Given the description of an element on the screen output the (x, y) to click on. 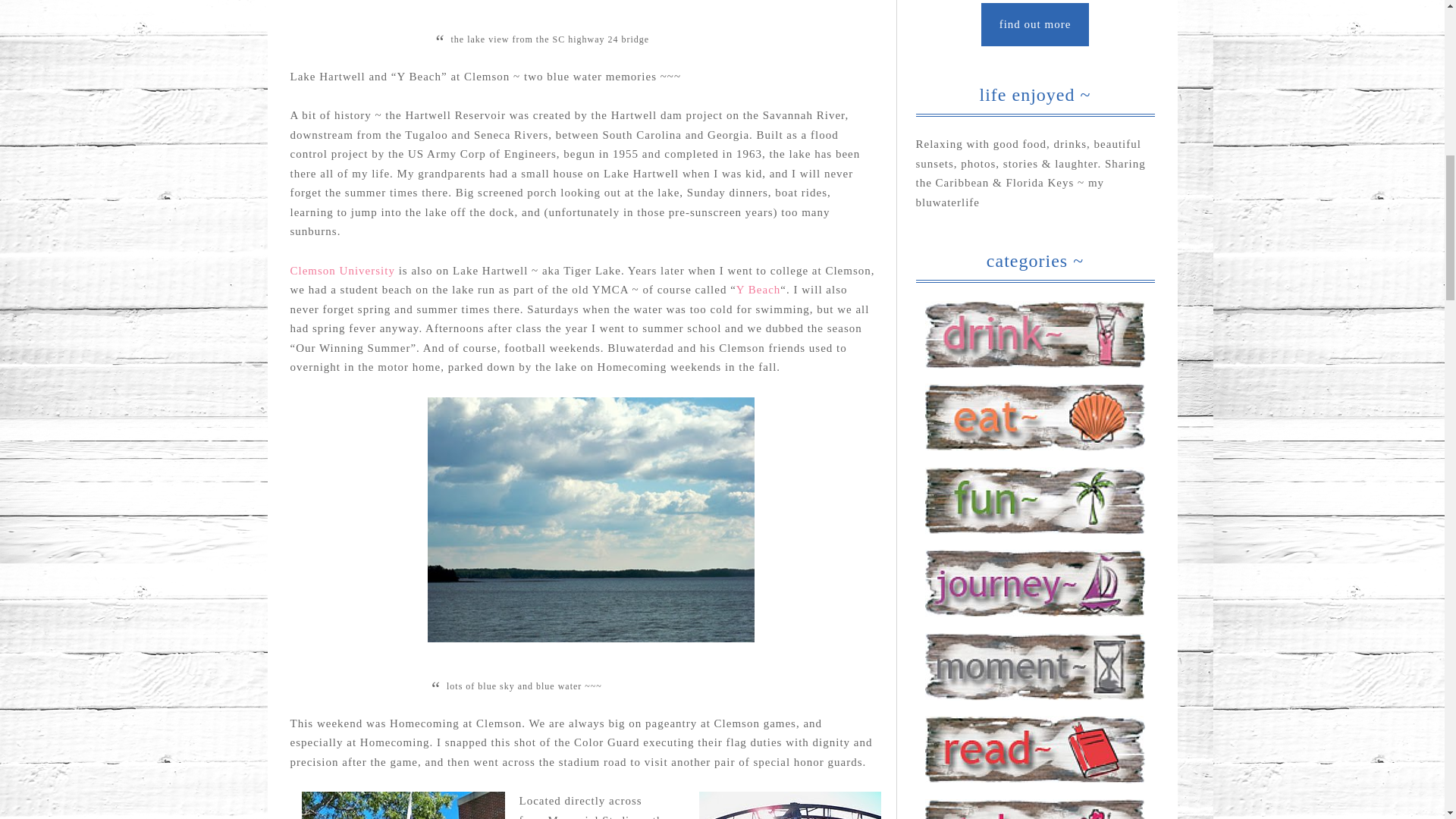
Clemson University (341, 270)
Y Beach (758, 289)
